Given the description of an element on the screen output the (x, y) to click on. 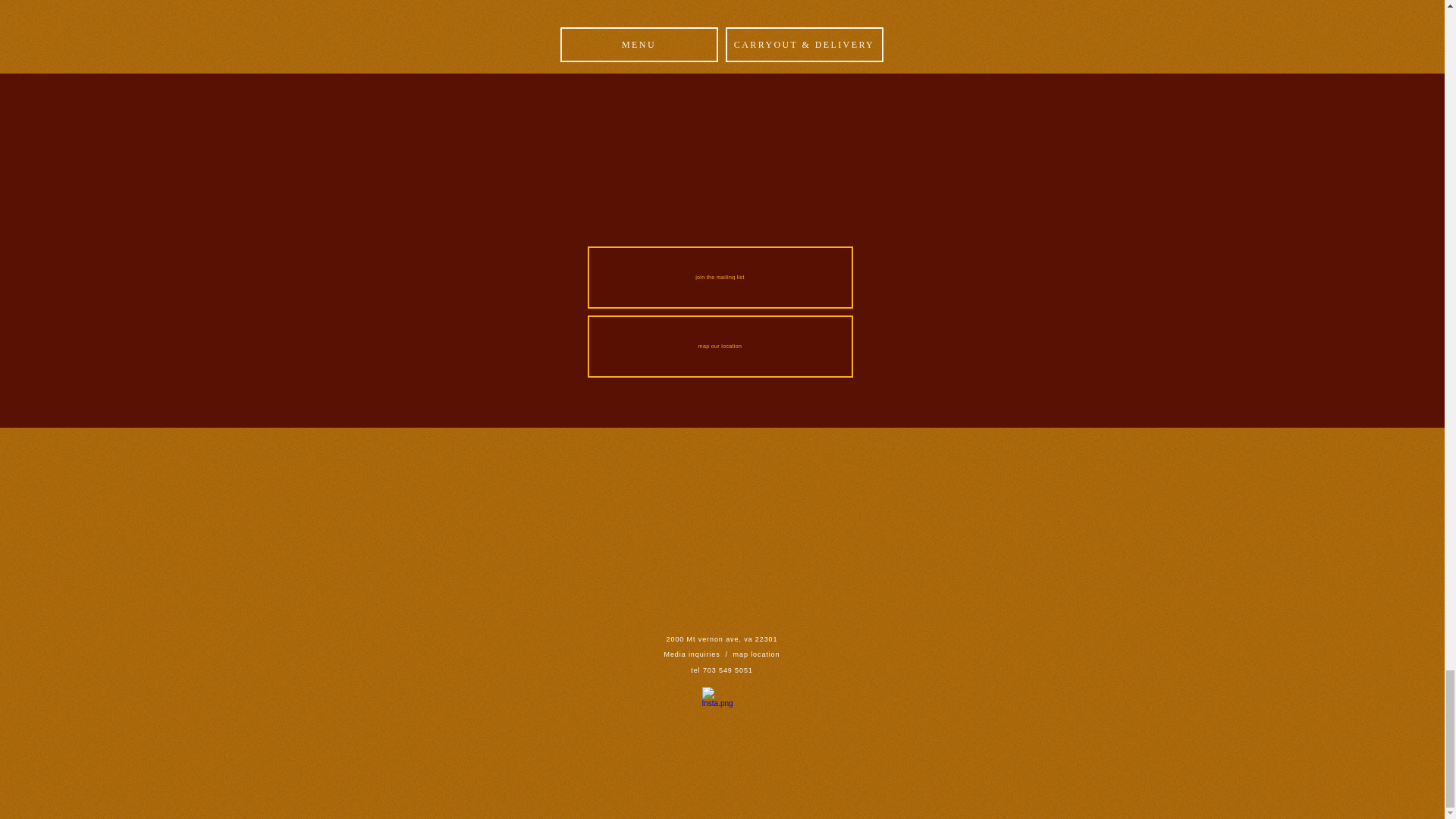
map our location (718, 346)
703 549 5051 (727, 670)
map location (756, 654)
join the mailing list (718, 277)
